Given the description of an element on the screen output the (x, y) to click on. 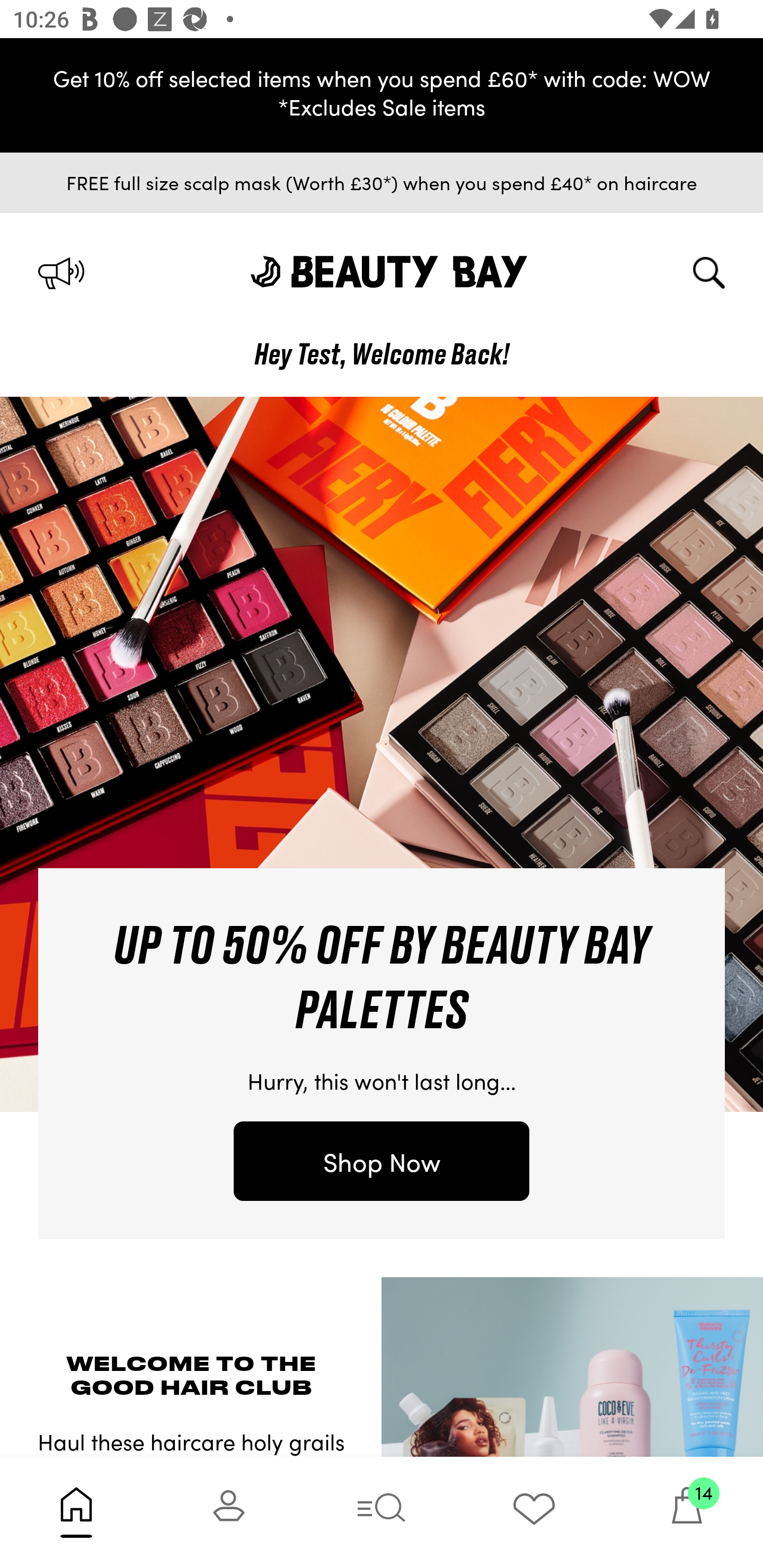
14 (686, 1512)
